Given the description of an element on the screen output the (x, y) to click on. 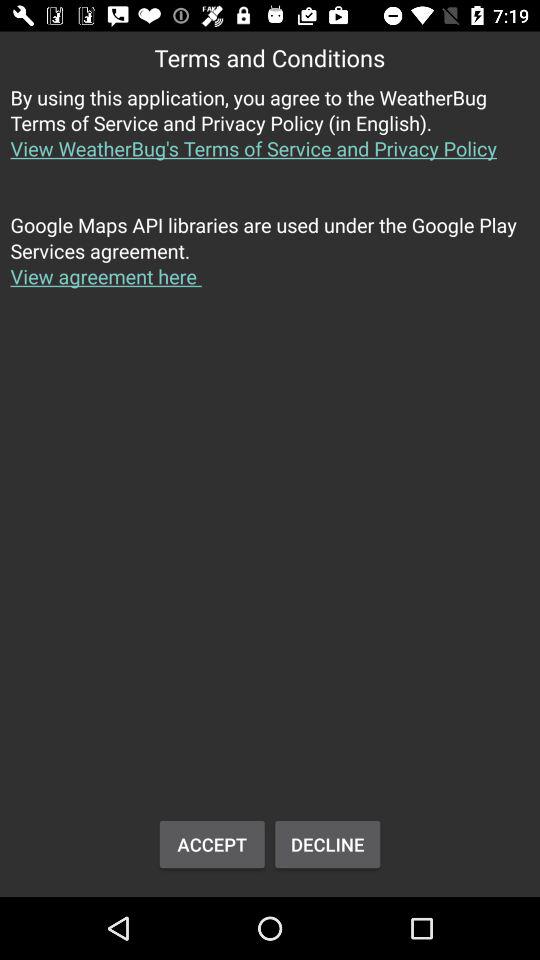
click the accept (212, 844)
